Given the description of an element on the screen output the (x, y) to click on. 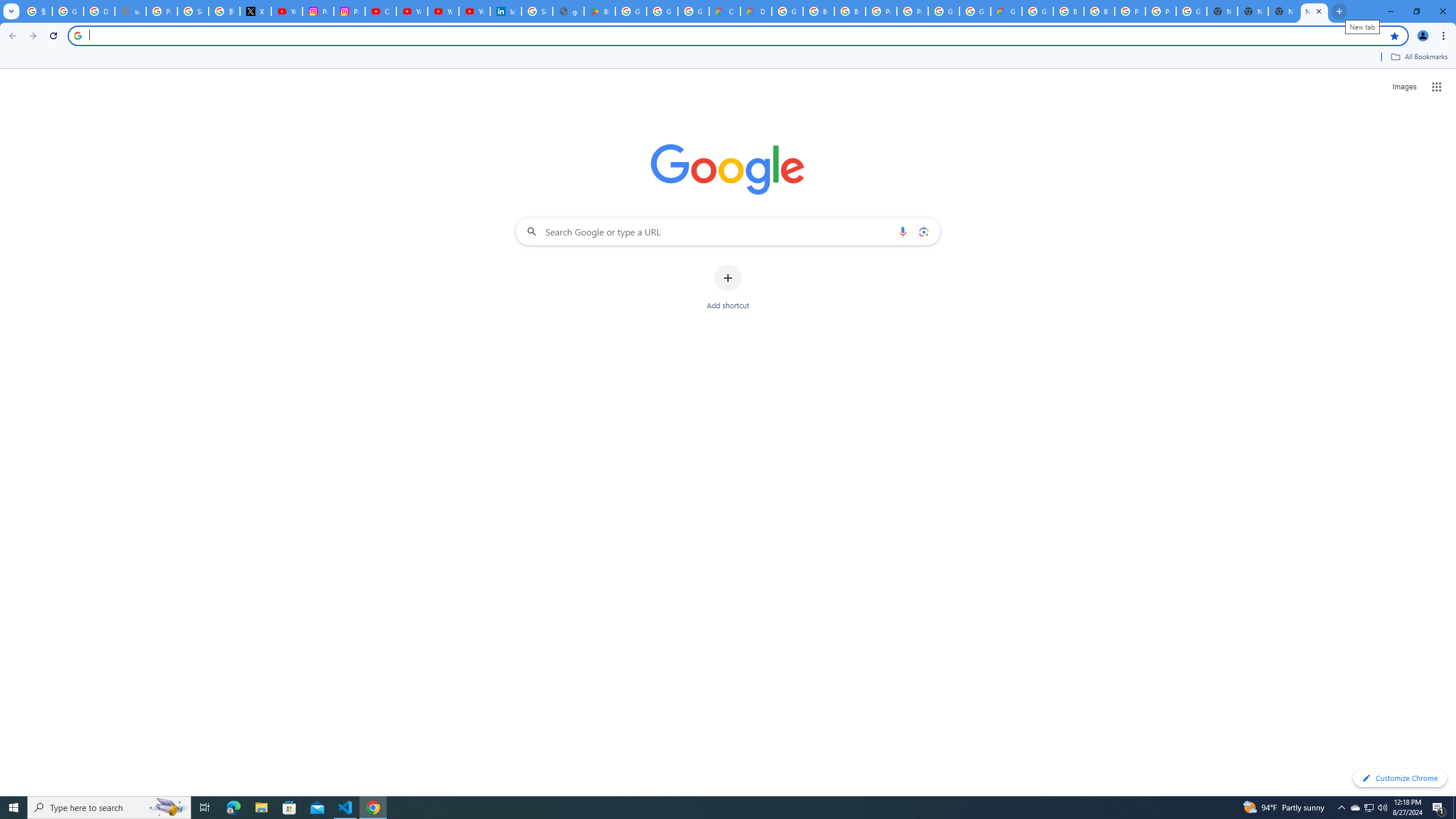
Search Google or type a URL (727, 230)
X (255, 11)
New Tab (1314, 11)
Add shortcut (727, 287)
Google Cloud Platform (943, 11)
